Given the description of an element on the screen output the (x, y) to click on. 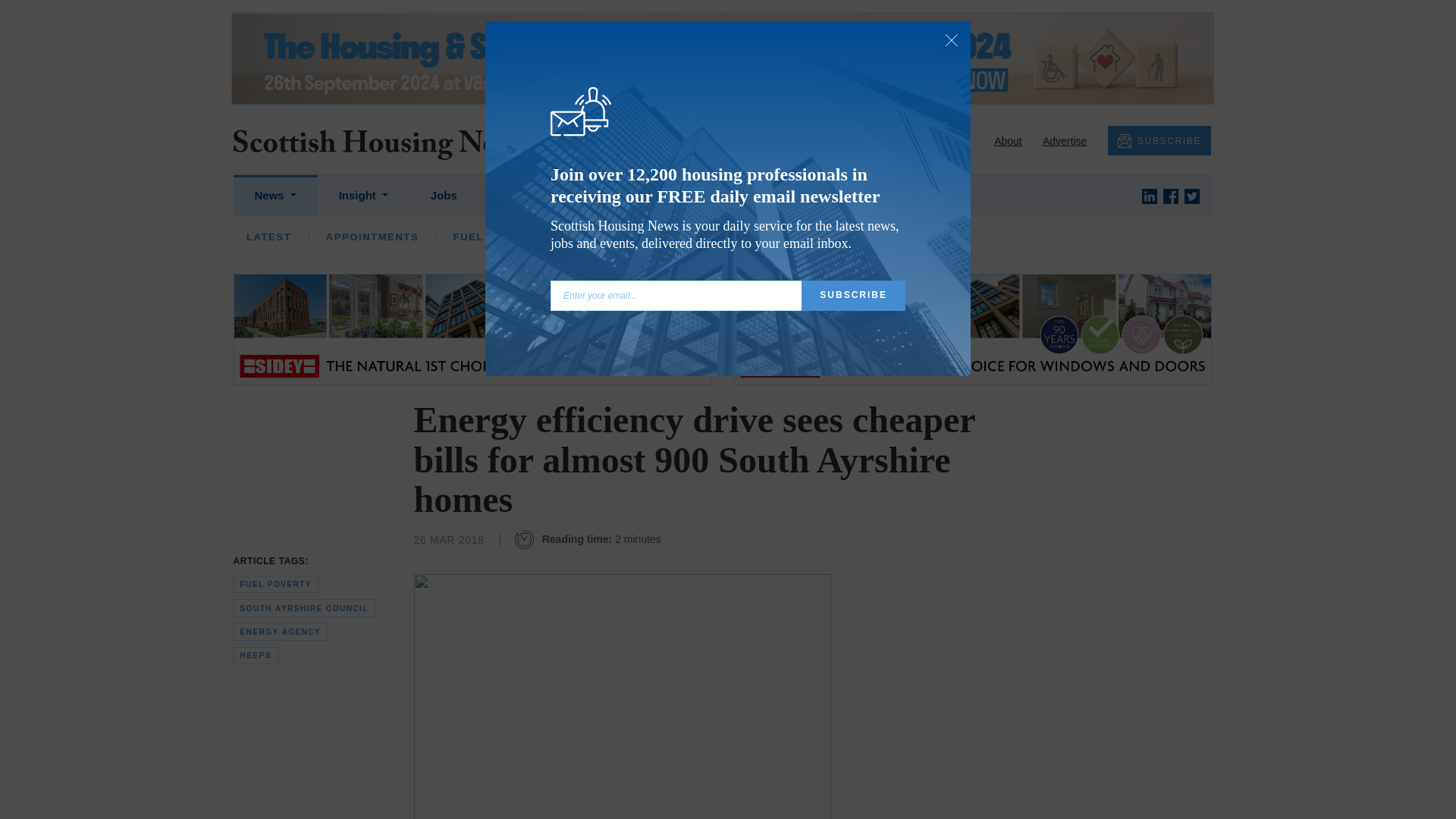
APPOINTMENTS (372, 236)
SFHA TECH COLUMN (742, 236)
Jobs (444, 196)
About (1008, 141)
News (274, 196)
Events (603, 196)
INTERVIEWS (446, 236)
Insight (363, 196)
OUR HOUSING HERITAGE (1035, 236)
Advertise (1064, 141)
BLACK'S BLOG (883, 236)
HOUSING CHAMPIONS (582, 236)
FUEL POVERTY (497, 236)
Tenders (521, 196)
SUBSCRIBE (1158, 140)
